Given the description of an element on the screen output the (x, y) to click on. 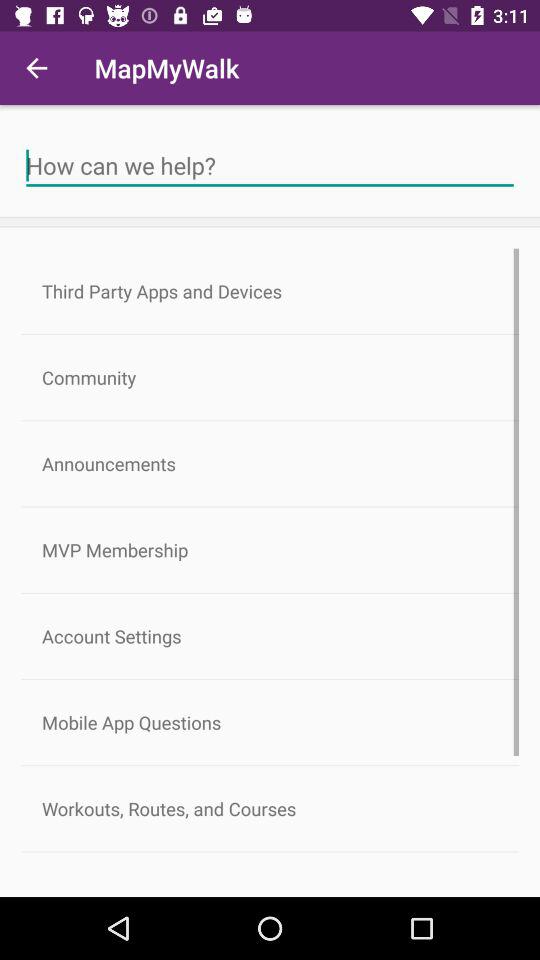
scroll to community (269, 377)
